Given the description of an element on the screen output the (x, y) to click on. 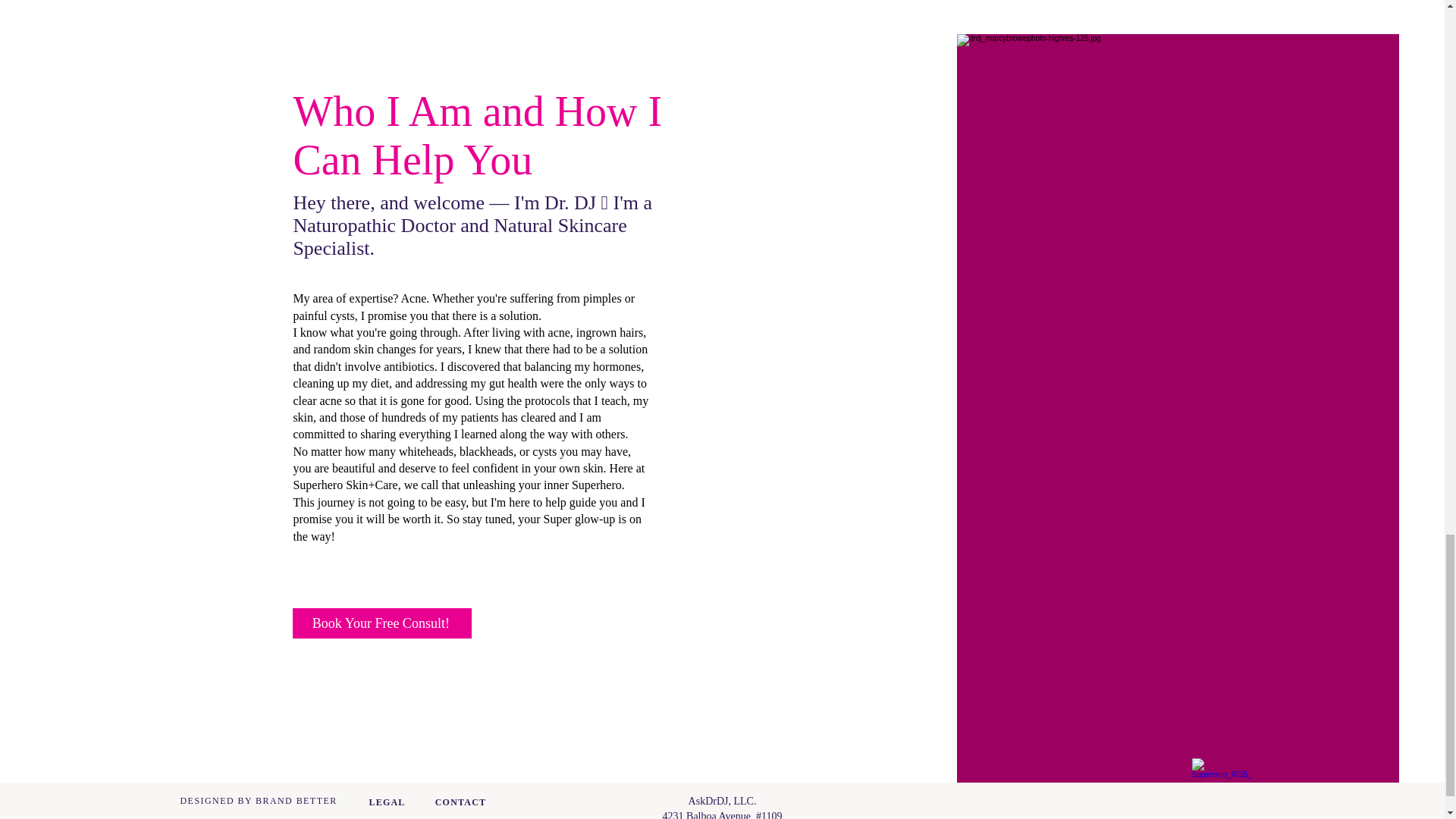
Book Your Free Consult! (381, 623)
DESIGNED BY BRAND BETTER (258, 800)
LEGAL (386, 801)
CONTACT (460, 801)
